Given the description of an element on the screen output the (x, y) to click on. 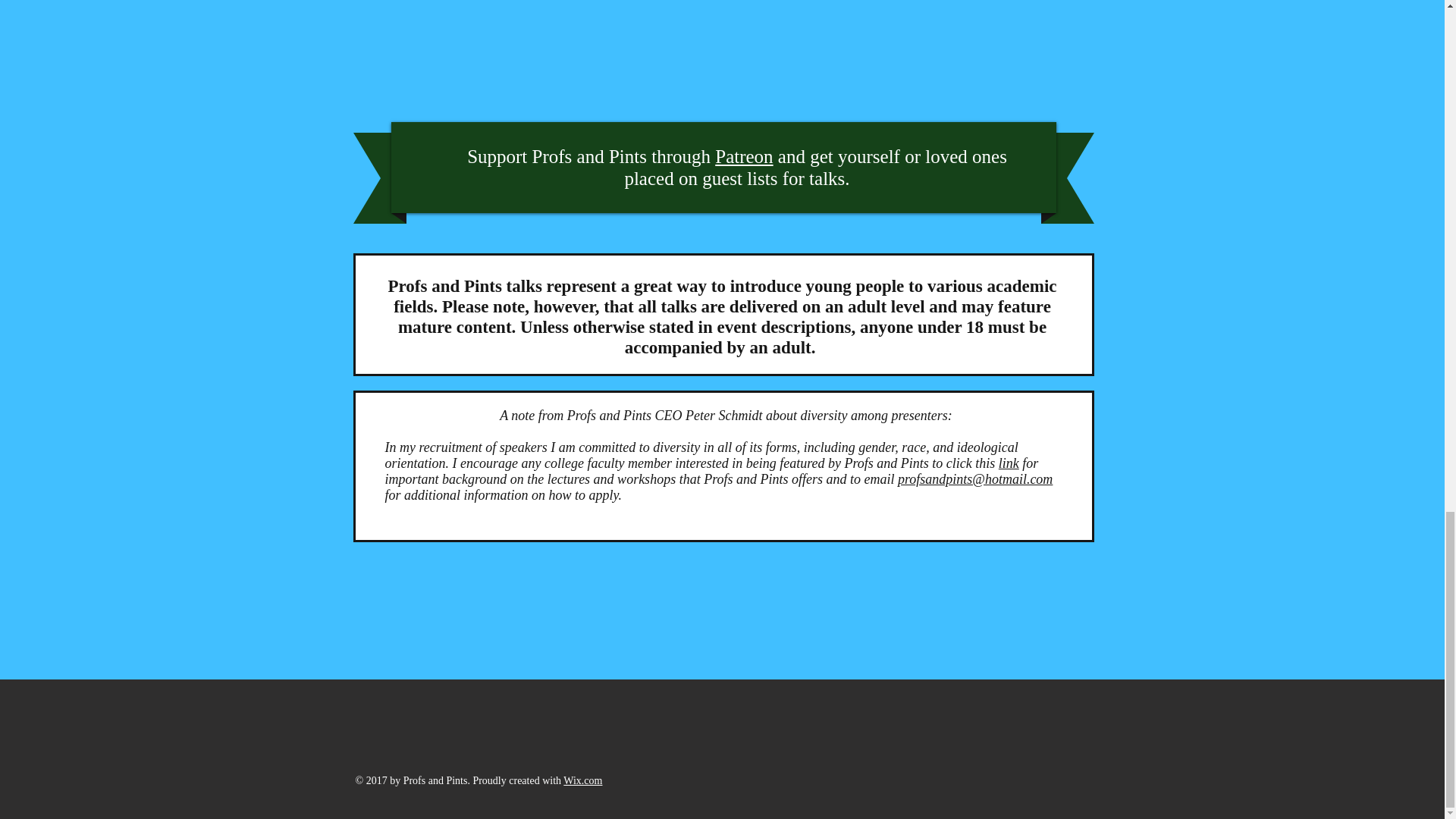
Patreon (743, 156)
link (1008, 462)
Wix.com (582, 780)
Twitter Follow (978, 713)
